Given the description of an element on the screen output the (x, y) to click on. 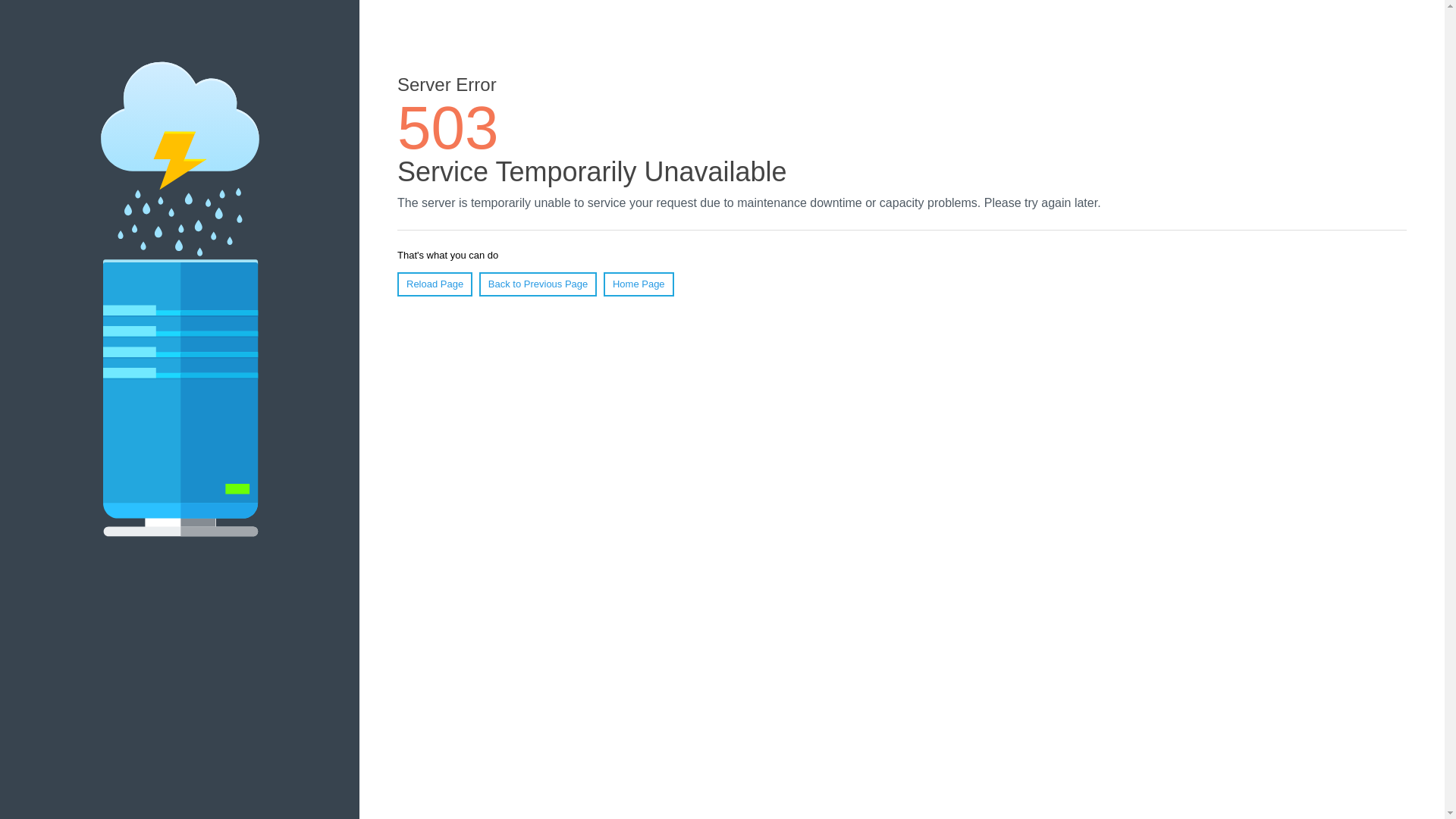
Reload Page Element type: text (434, 284)
Back to Previous Page Element type: text (538, 284)
Home Page Element type: text (638, 284)
